Given the description of an element on the screen output the (x, y) to click on. 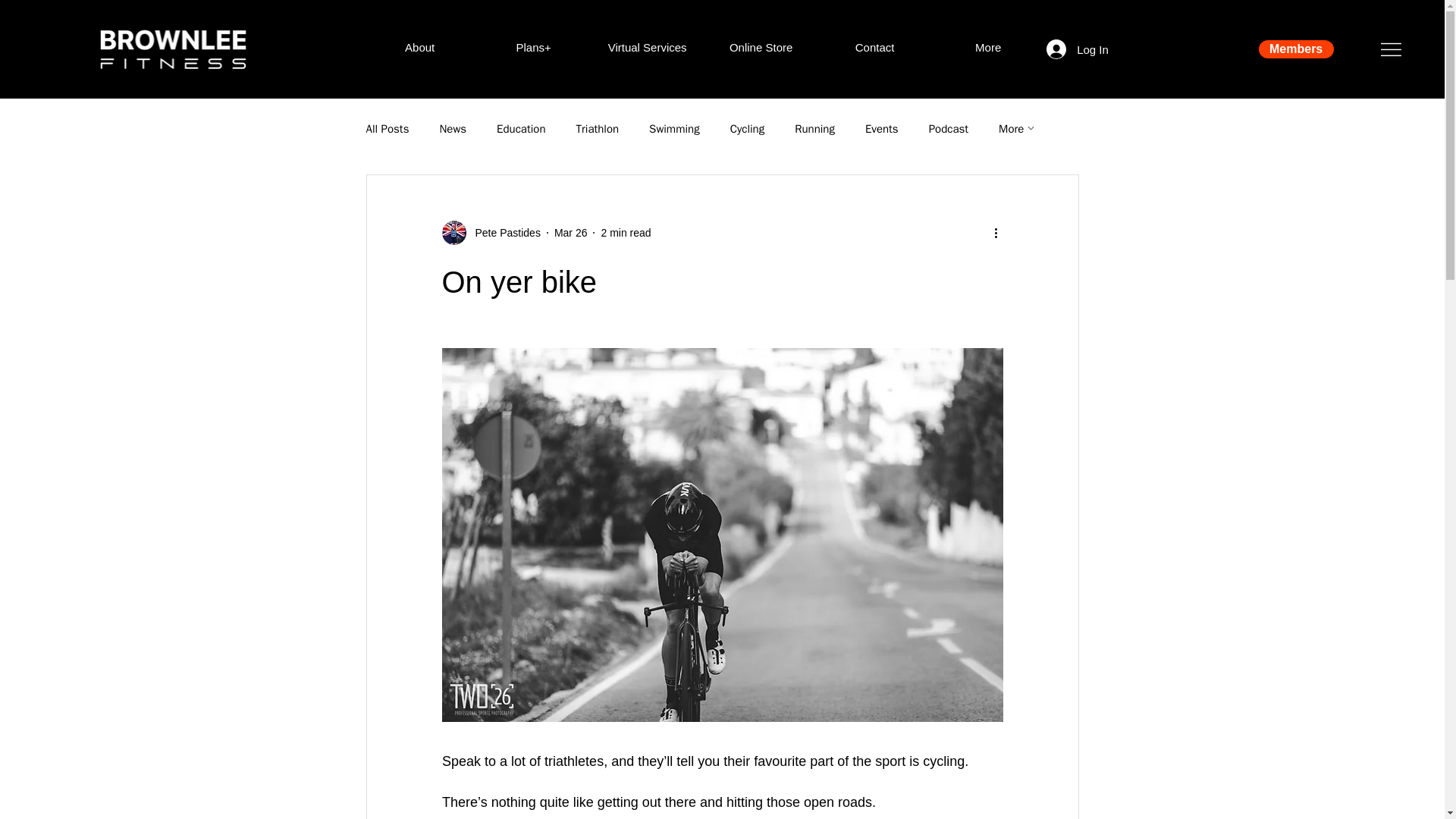
Triathlon (598, 128)
News (452, 128)
All Posts (387, 128)
Pete Pastides (490, 232)
About (419, 47)
Log In (1077, 49)
Cycling (747, 128)
Members (1296, 49)
Swimming (674, 128)
2 min read (624, 232)
Contact (874, 47)
Events (881, 128)
Education (520, 128)
Pete Pastides (502, 232)
Podcast (948, 128)
